Given the description of an element on the screen output the (x, y) to click on. 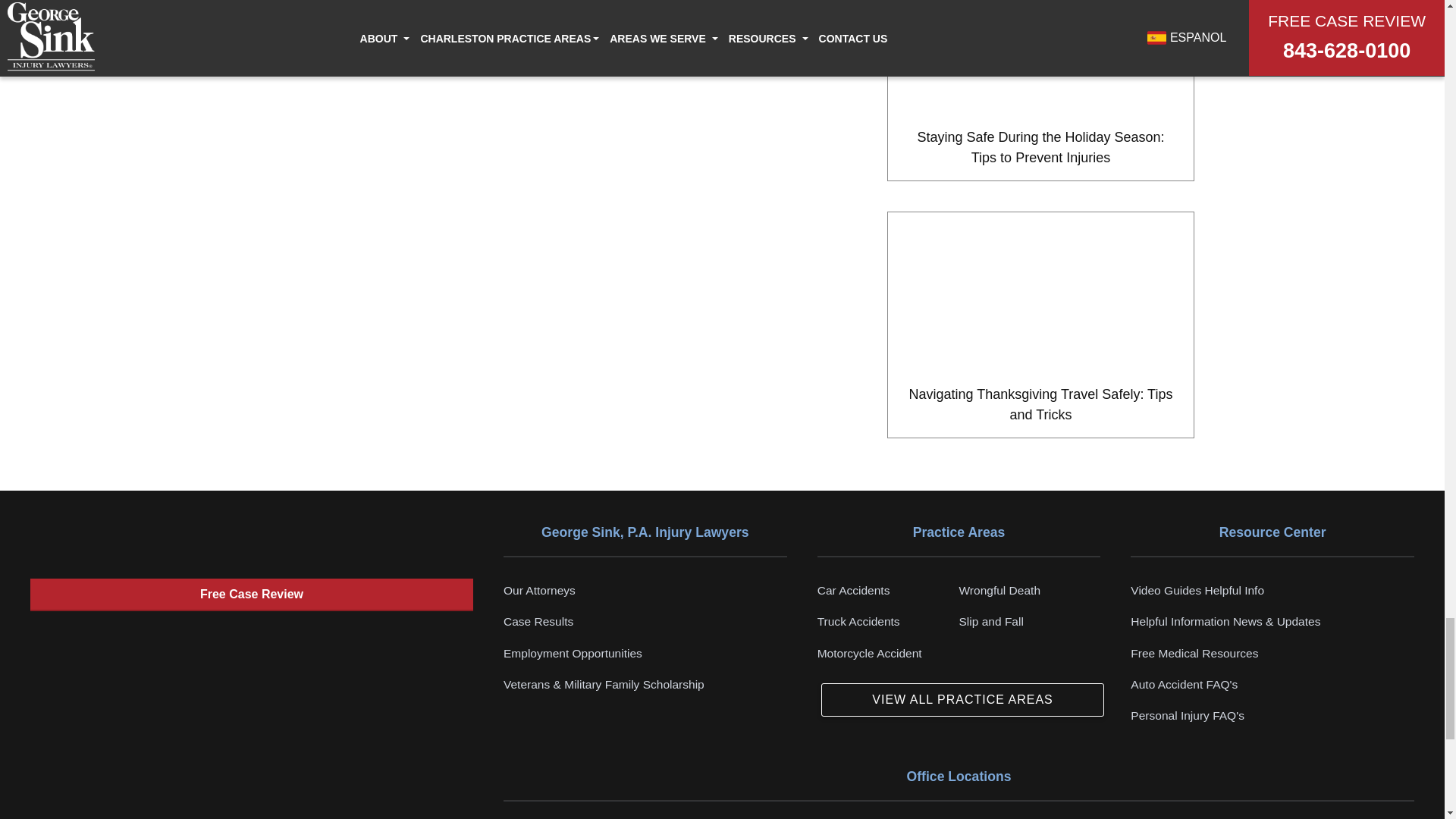
Navigating Thanksgiving Travel Safely: Tips and Tricks (1040, 324)
Navigating Thanksgiving Travel Safely: Tips and Tricks (1040, 292)
